Given the description of an element on the screen output the (x, y) to click on. 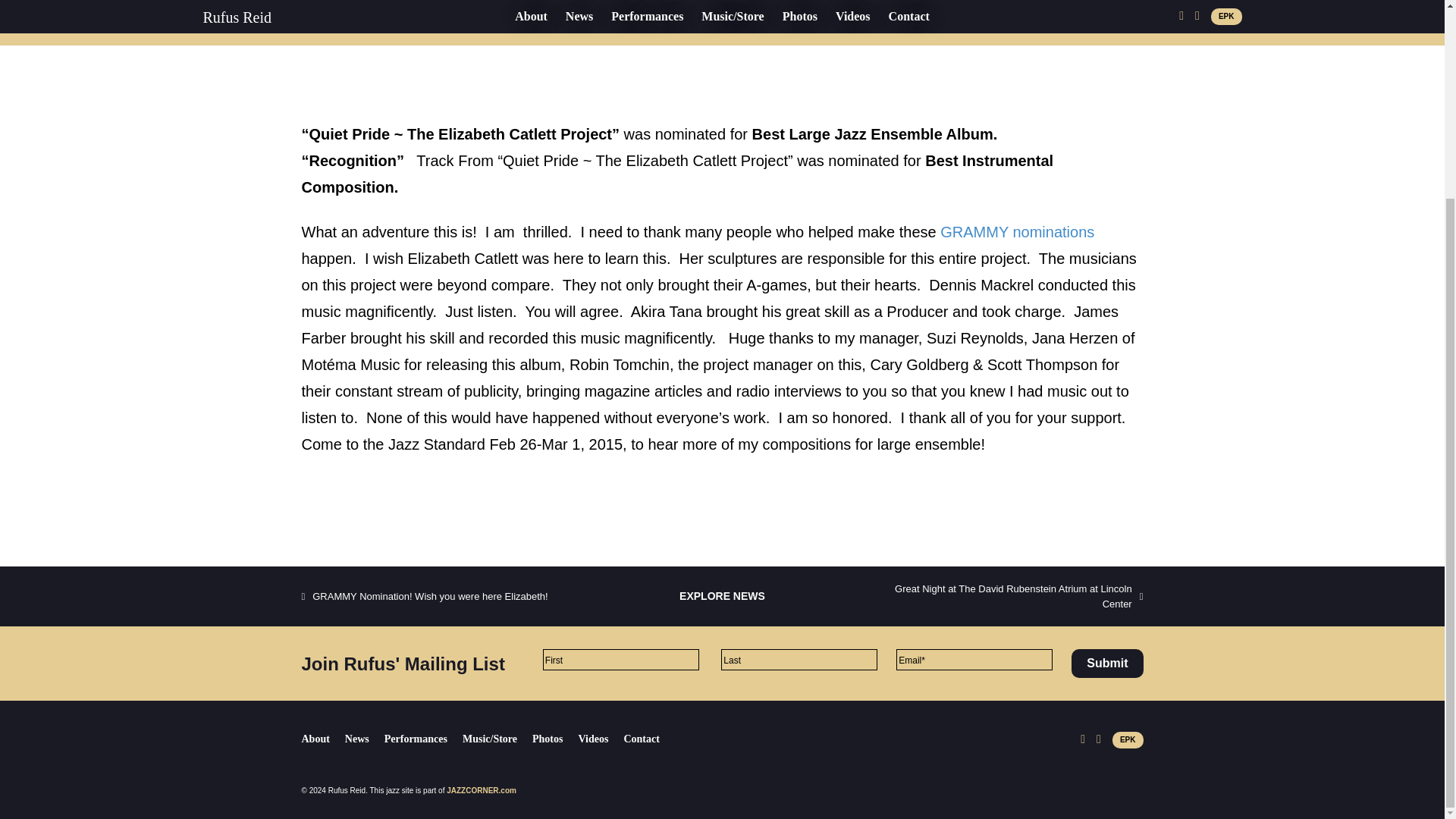
GRAMMY nominations (1017, 231)
Submit (1106, 663)
GRAMMY nominations (1017, 231)
Great Night at The David Rubenstein Atrium at Lincoln Center (1009, 595)
Performances (423, 738)
GRAMMY Nomination! Wish you were here Elizabeth! (424, 596)
Submit (1106, 663)
Contact (648, 738)
Photos (555, 738)
About (323, 738)
